Given the description of an element on the screen output the (x, y) to click on. 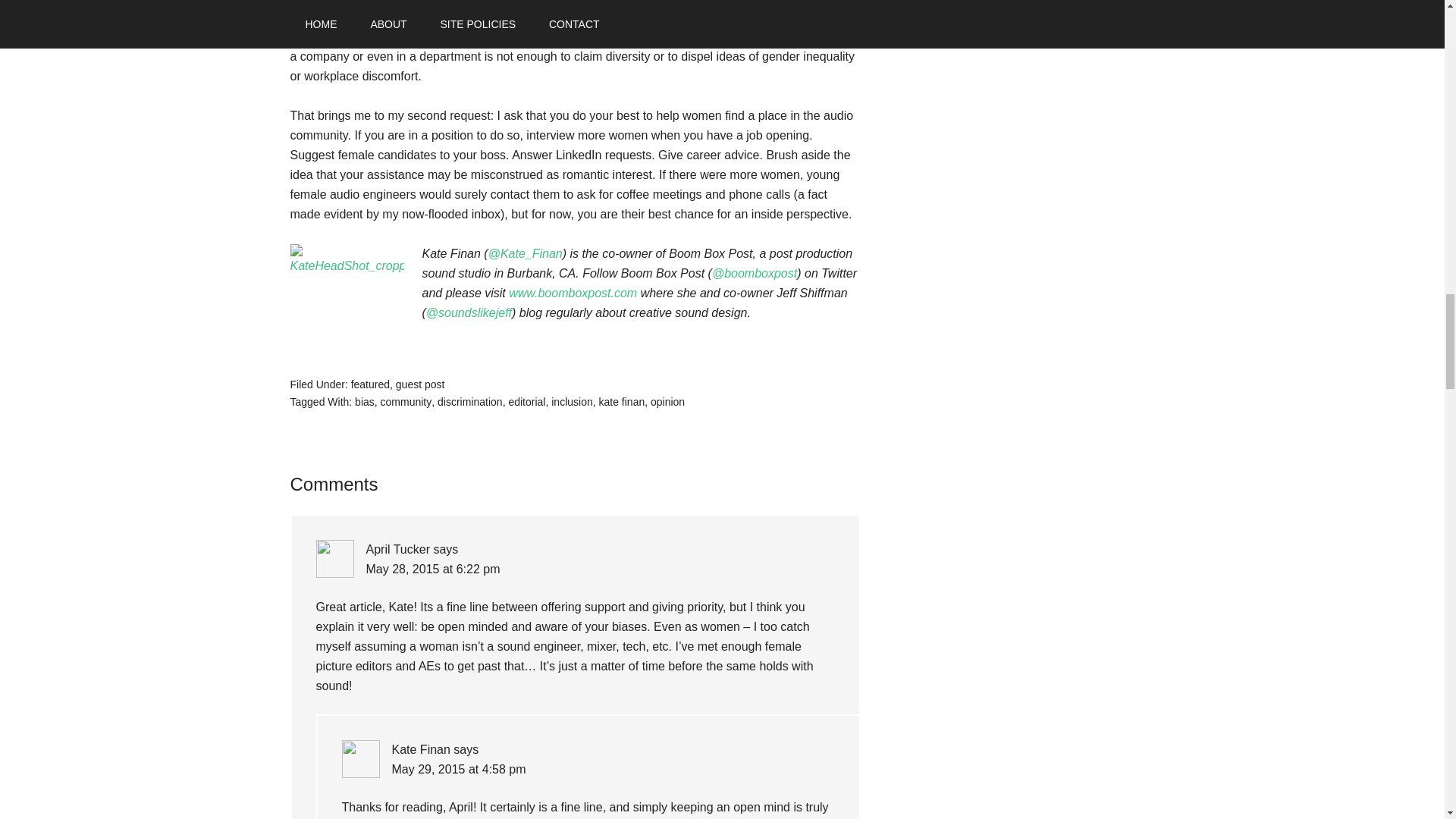
opinion (667, 401)
community (406, 401)
kate finan (621, 401)
discrimination (470, 401)
guest post (420, 384)
inclusion (571, 401)
bias (364, 401)
featured (370, 384)
editorial (526, 401)
www.boomboxpost.com (572, 292)
